Given the description of an element on the screen output the (x, y) to click on. 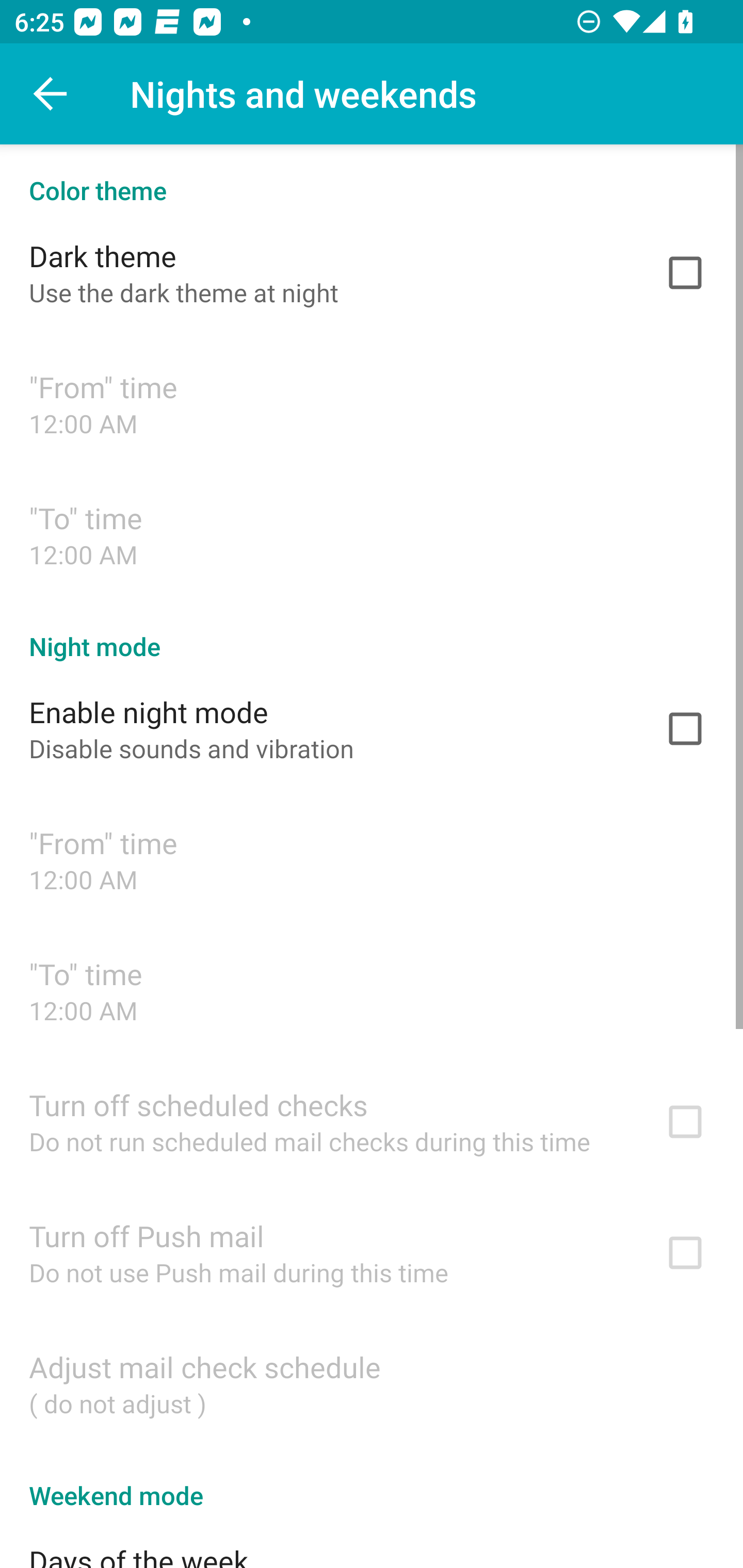
Navigate up (50, 93)
Dark theme Use the dark theme at night (371, 272)
"From" time 12:00 AM (371, 403)
"To" time 12:00 AM (371, 534)
Enable night mode Disable sounds and vibration (371, 728)
"From" time 12:00 AM (371, 859)
"To" time 12:00 AM (371, 990)
Adjust mail check schedule ( do not adjust ) (371, 1383)
